Given the description of an element on the screen output the (x, y) to click on. 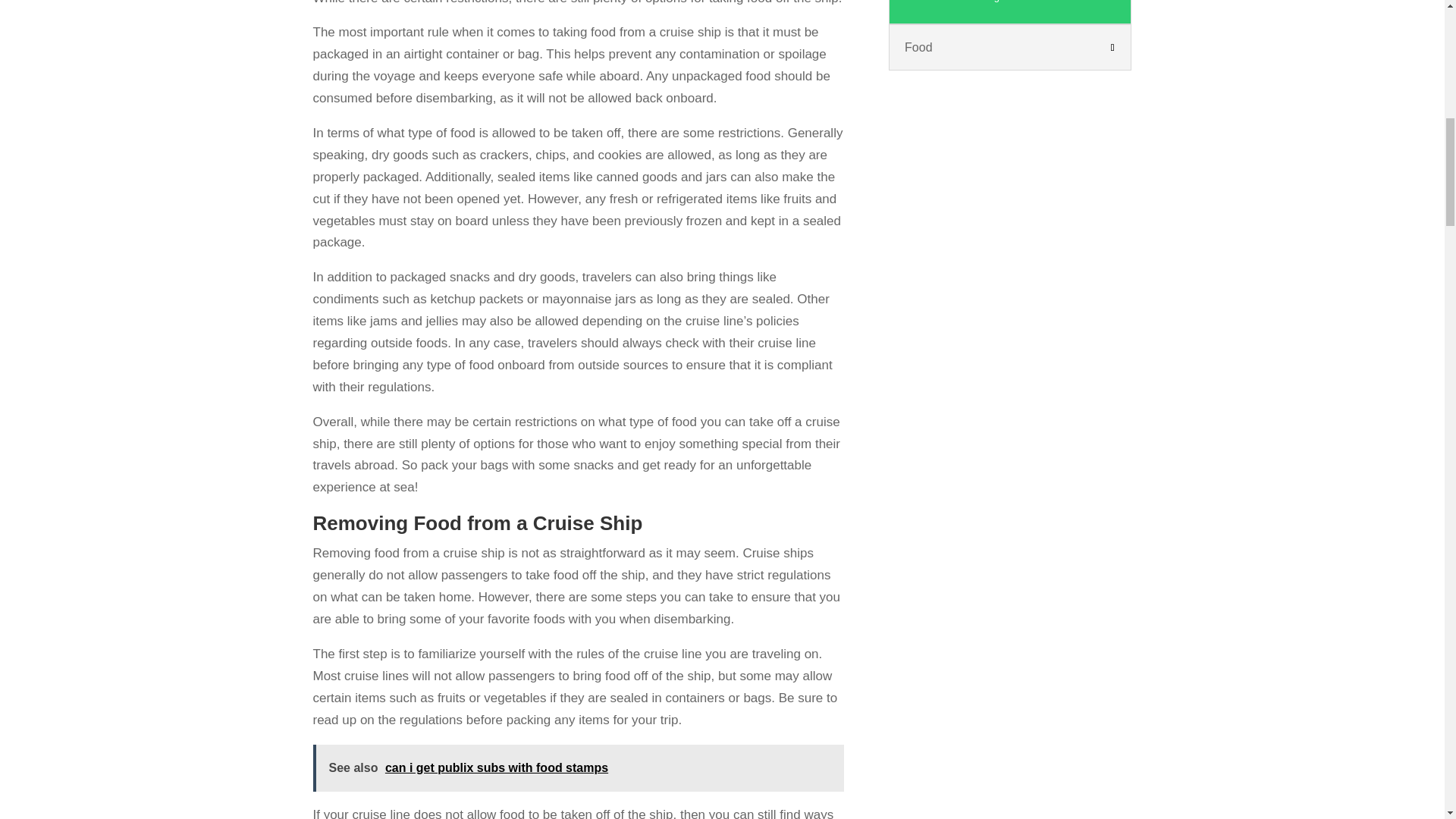
See also  can i get publix subs with food stamps (578, 768)
